Given the description of an element on the screen output the (x, y) to click on. 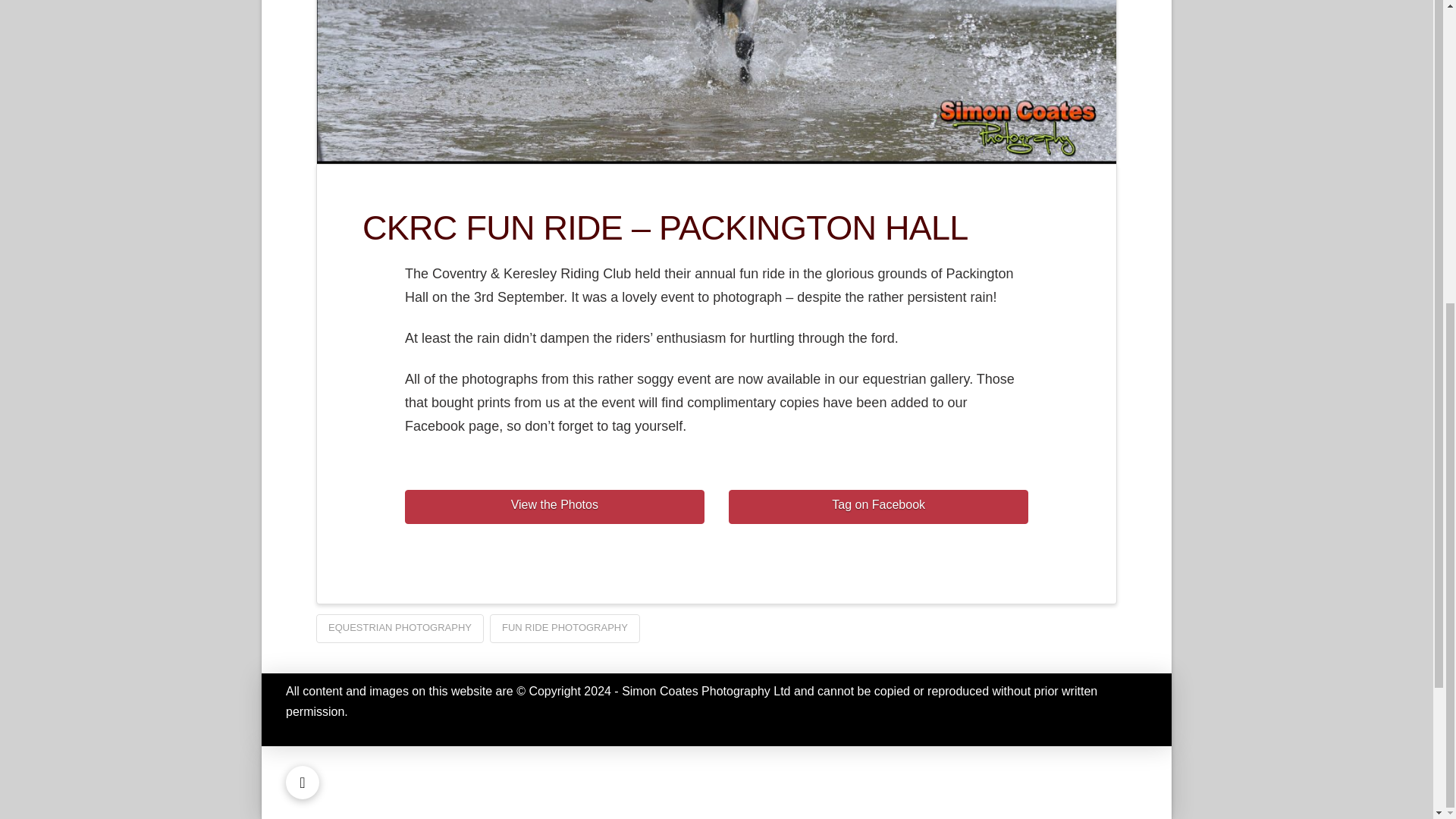
FUN RIDE PHOTOGRAPHY (564, 628)
View the Photos (554, 506)
Tag on Facebook (878, 506)
EQUESTRIAN PHOTOGRAPHY (399, 628)
